Given the description of an element on the screen output the (x, y) to click on. 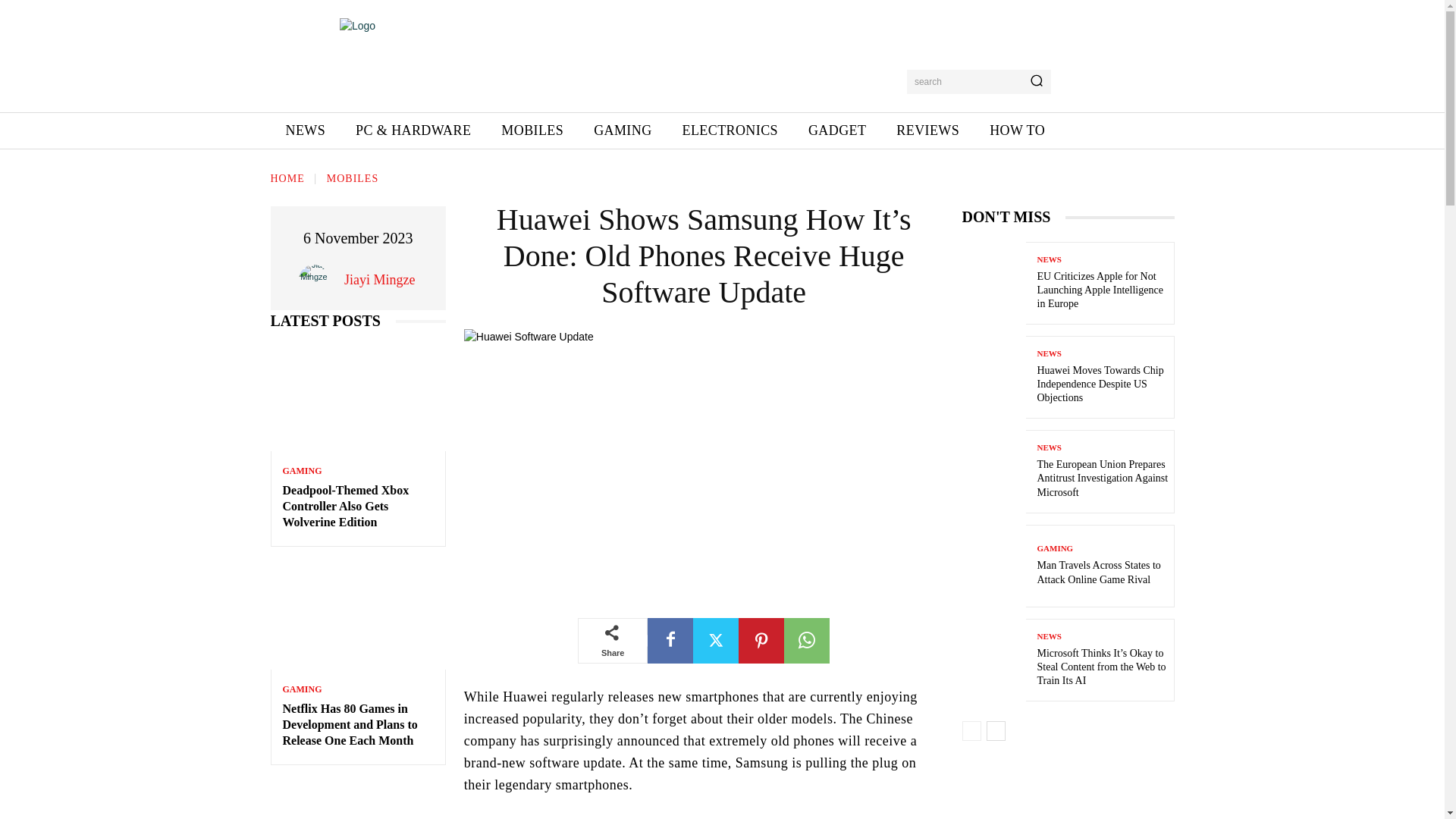
HOW TO (1016, 130)
REVIEWS (927, 130)
Huawei Software Update (703, 463)
GADGET (836, 130)
MOBILES (352, 178)
Jiayi Mingze (378, 279)
Deadpool-Themed Xbox Controller Also Gets Wolverine Edition (345, 506)
GAMING (301, 688)
GAMING (622, 130)
Jiayi Mingze (317, 279)
View all posts in Mobiles (352, 178)
Deadpool-Themed Xbox Controller Also Gets Wolverine Edition (345, 506)
